Given the description of an element on the screen output the (x, y) to click on. 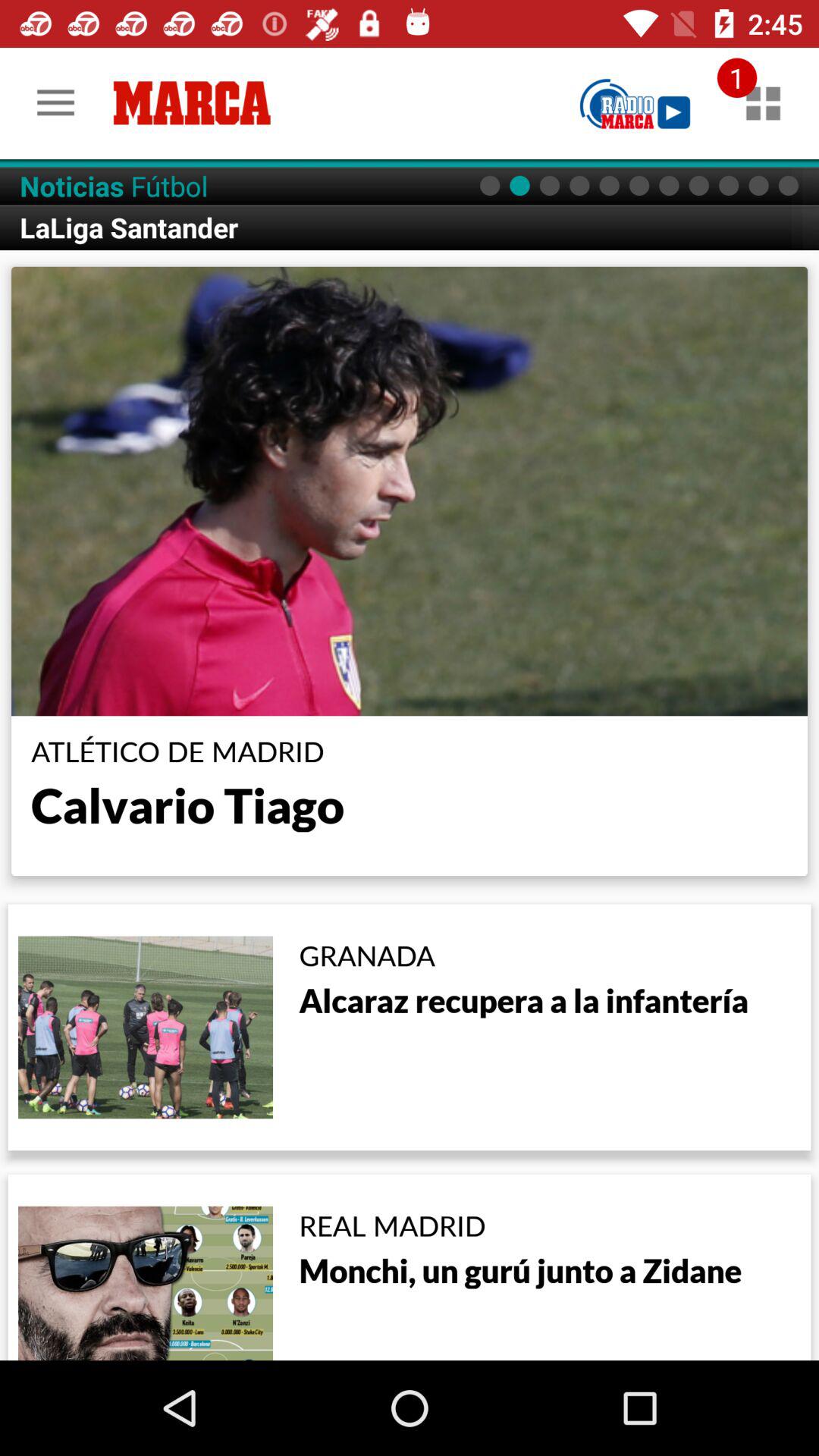
check alert (763, 103)
